Given the description of an element on the screen output the (x, y) to click on. 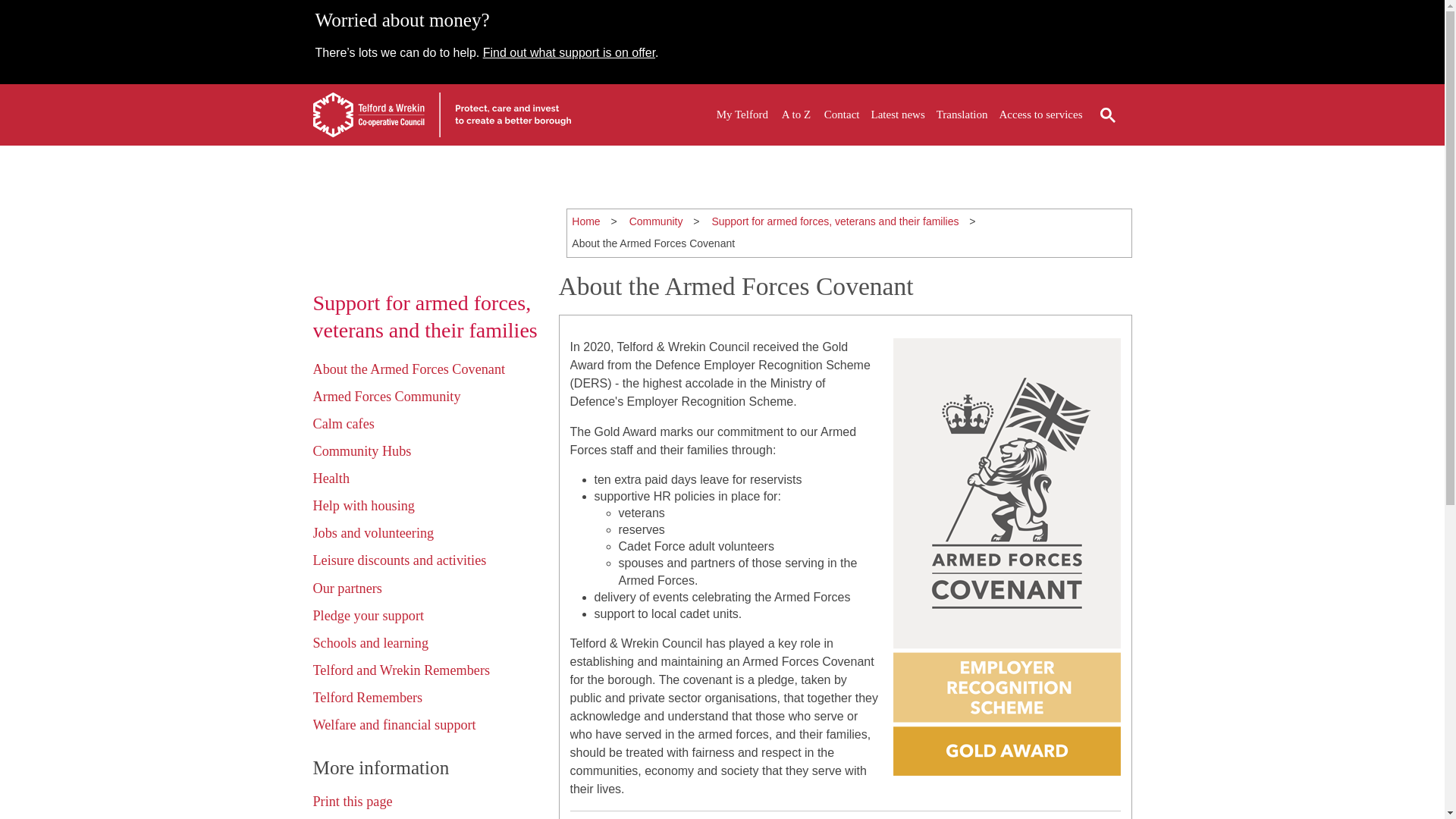
Translation (962, 114)
Access to services (1040, 114)
My Telford (742, 114)
Home (585, 221)
Contact (842, 114)
A to Z (795, 114)
Latest news (897, 114)
Search (1107, 114)
